Given the description of an element on the screen output the (x, y) to click on. 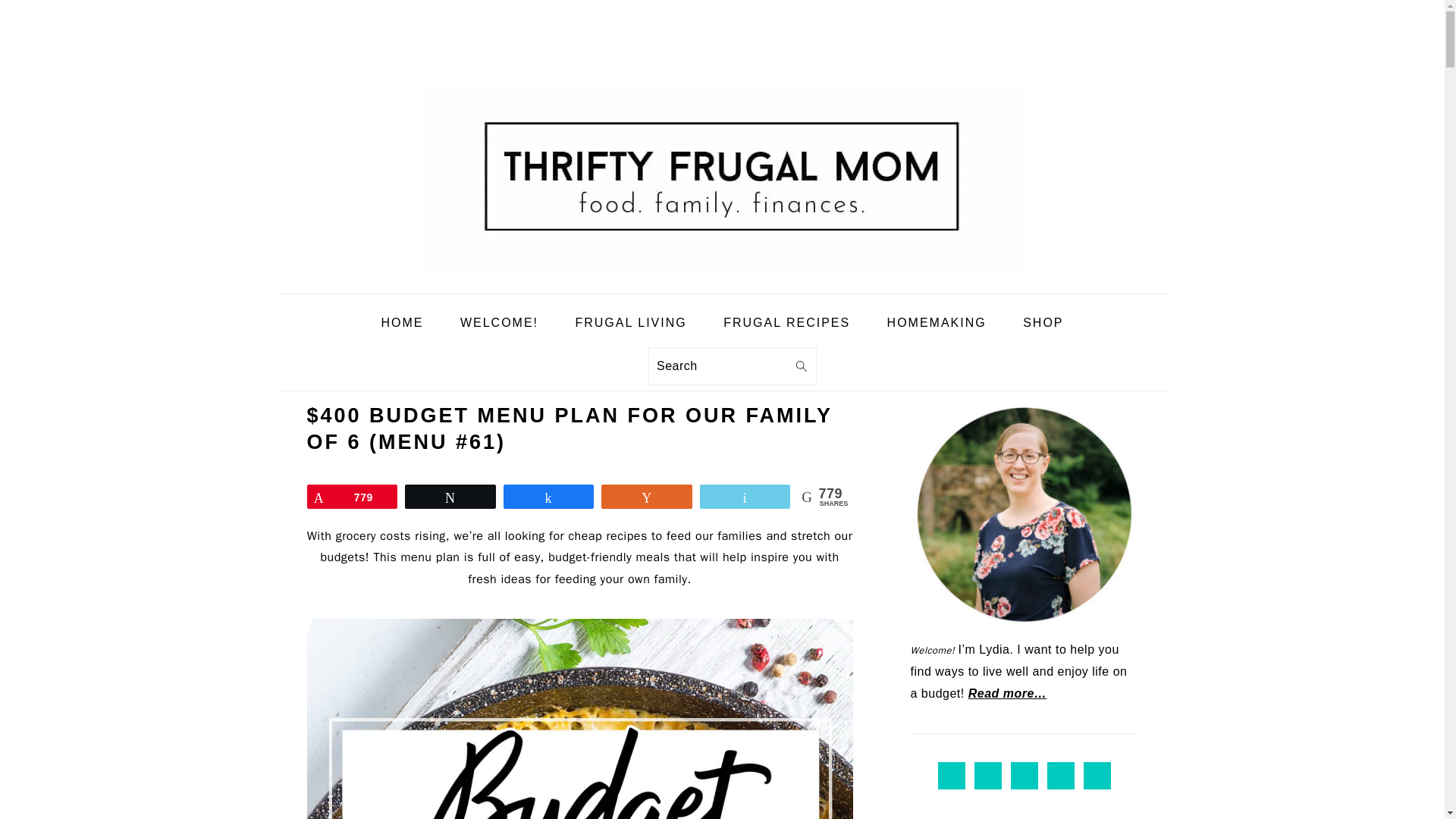
WELCOME! (499, 323)
SHOP (1042, 323)
HOMEMAKING (936, 323)
FRUGAL RECIPES (786, 323)
779 (352, 496)
HOME (402, 323)
Thrifty Frugal Mom (722, 177)
